Given the description of an element on the screen output the (x, y) to click on. 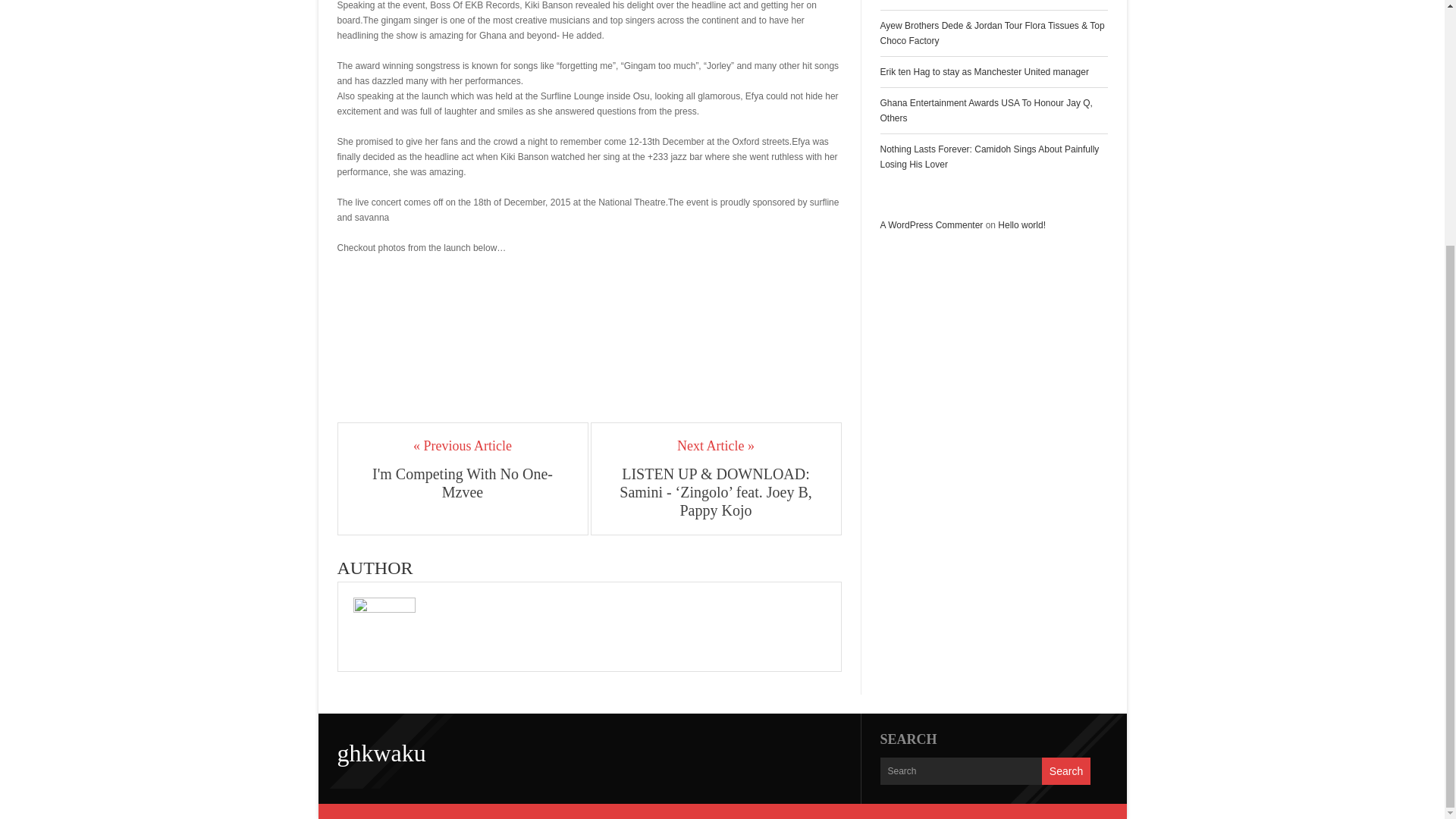
Ghana Entertainment Awards USA To Honour Jay Q, Others (985, 110)
A WordPress Commenter (930, 225)
Search (1066, 770)
Hello world! (1021, 225)
Erik ten Hag to stay as Manchester United manager (983, 71)
Search (1066, 770)
ghkwaku (380, 752)
I'm Competing With No One- Mzvee (462, 483)
